Given the description of an element on the screen output the (x, y) to click on. 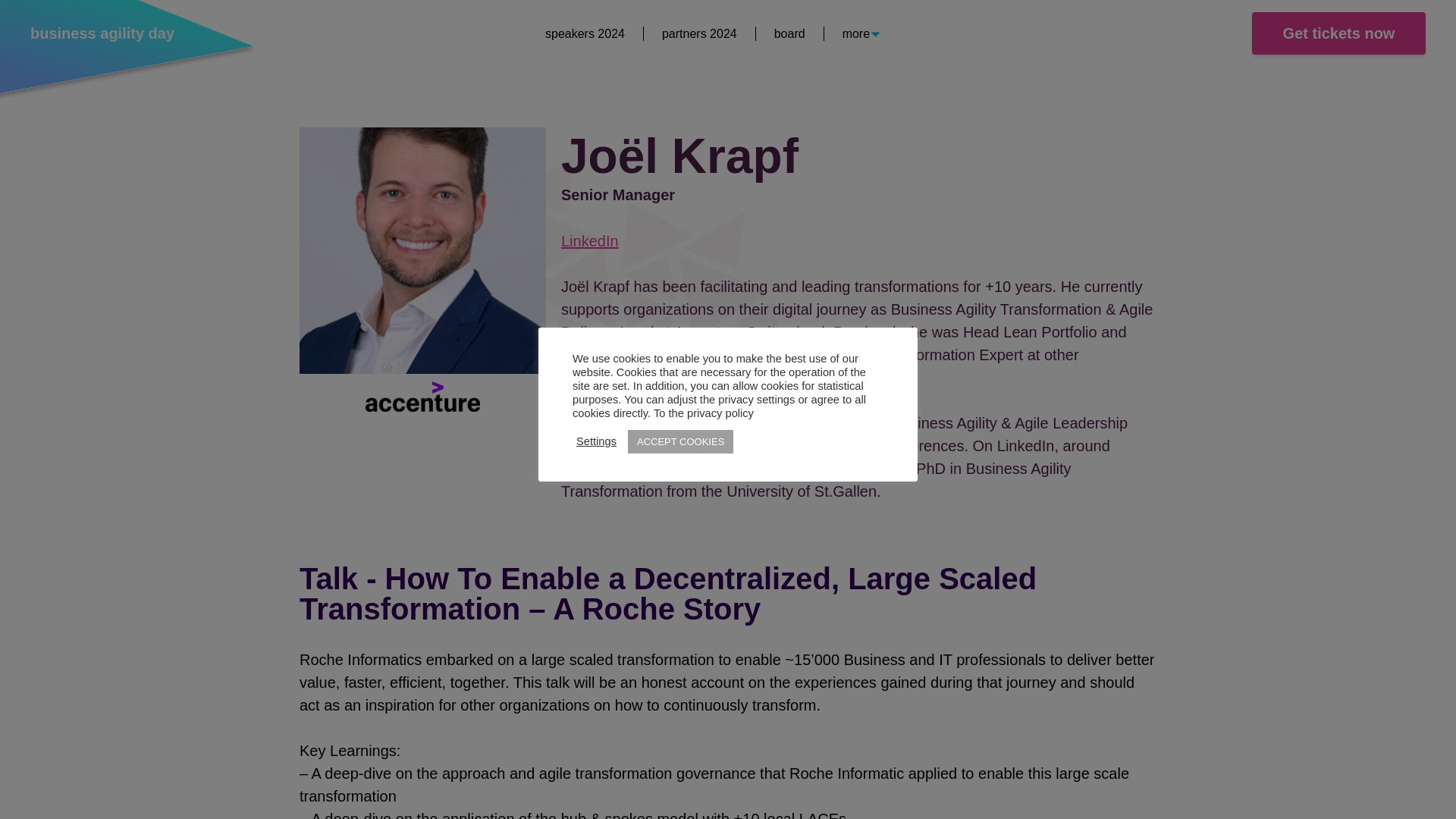
Get tickets now (1338, 33)
more (856, 32)
LinkedIn (589, 240)
ACCEPT COOKIES (680, 440)
board (789, 33)
To the privacy policy (703, 412)
Settings (595, 440)
speakers 2024 (584, 33)
partners 2024 (699, 33)
business agility day (102, 33)
